Given the description of an element on the screen output the (x, y) to click on. 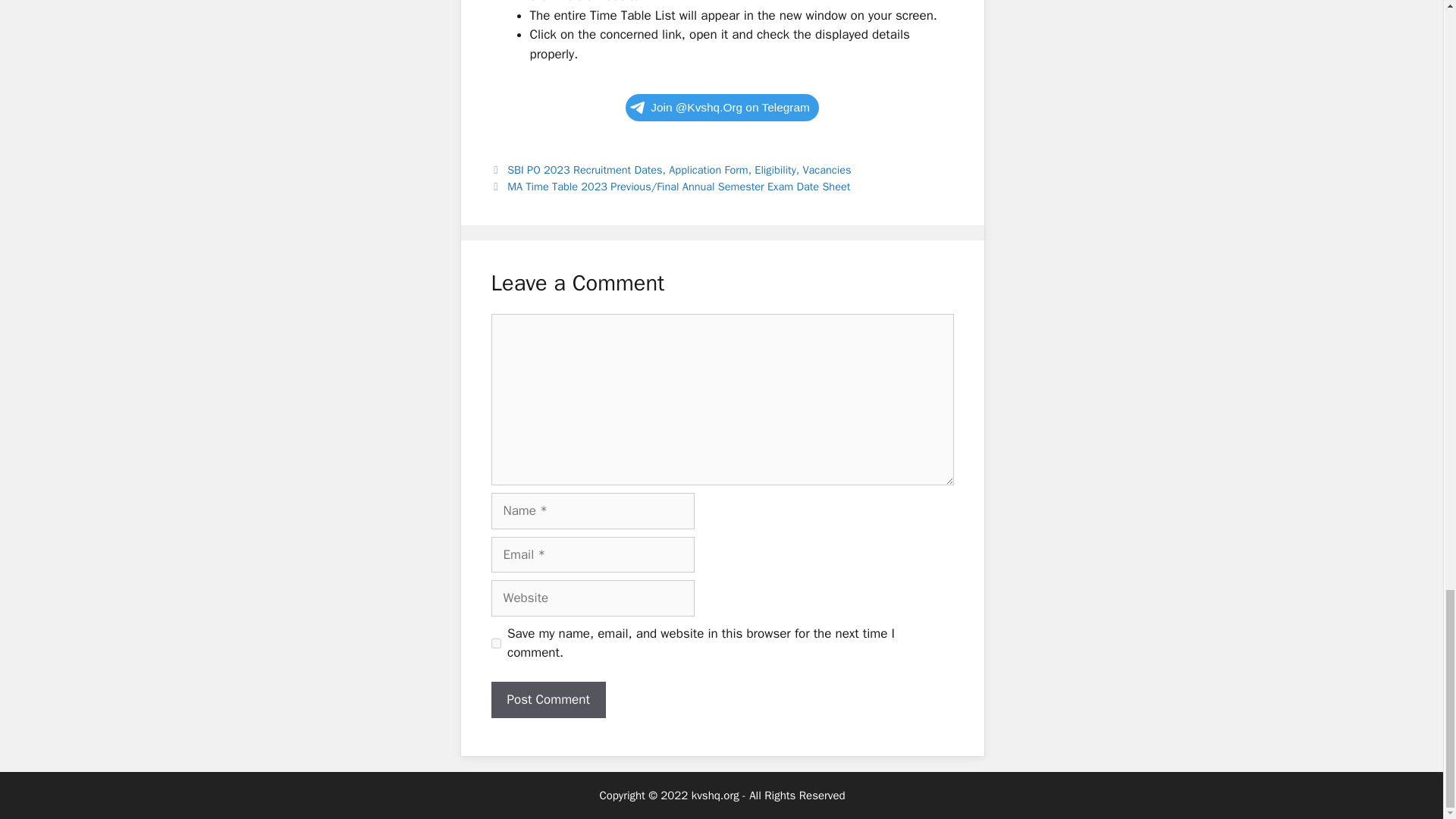
Post Comment (548, 699)
Post Comment (548, 699)
yes (496, 643)
